Given the description of an element on the screen output the (x, y) to click on. 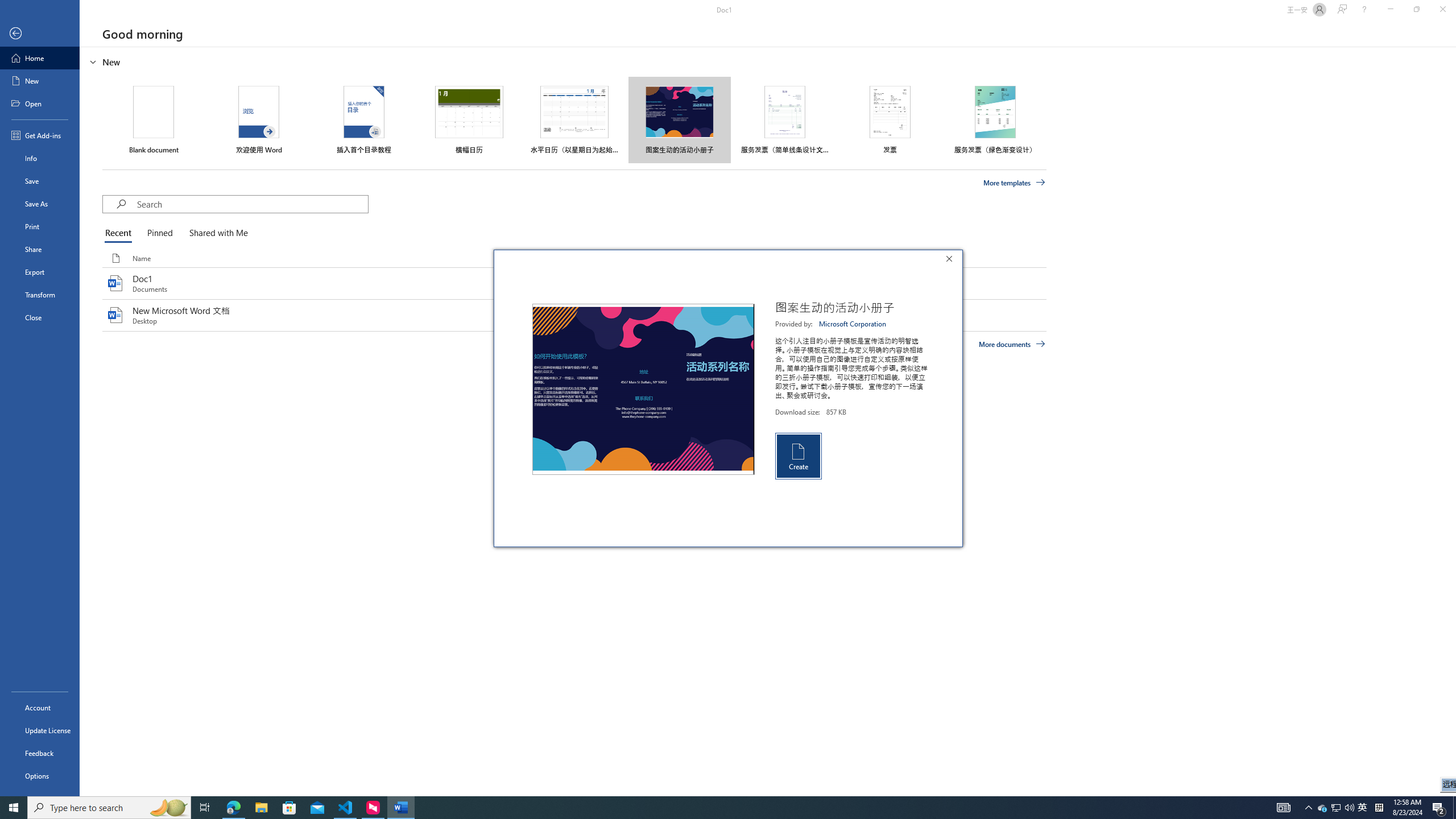
More documents (1011, 343)
Export (40, 271)
Microsoft Edge - 1 running window (233, 807)
New (40, 80)
File Explorer (261, 807)
Shared with Me (215, 233)
